Given the description of an element on the screen output the (x, y) to click on. 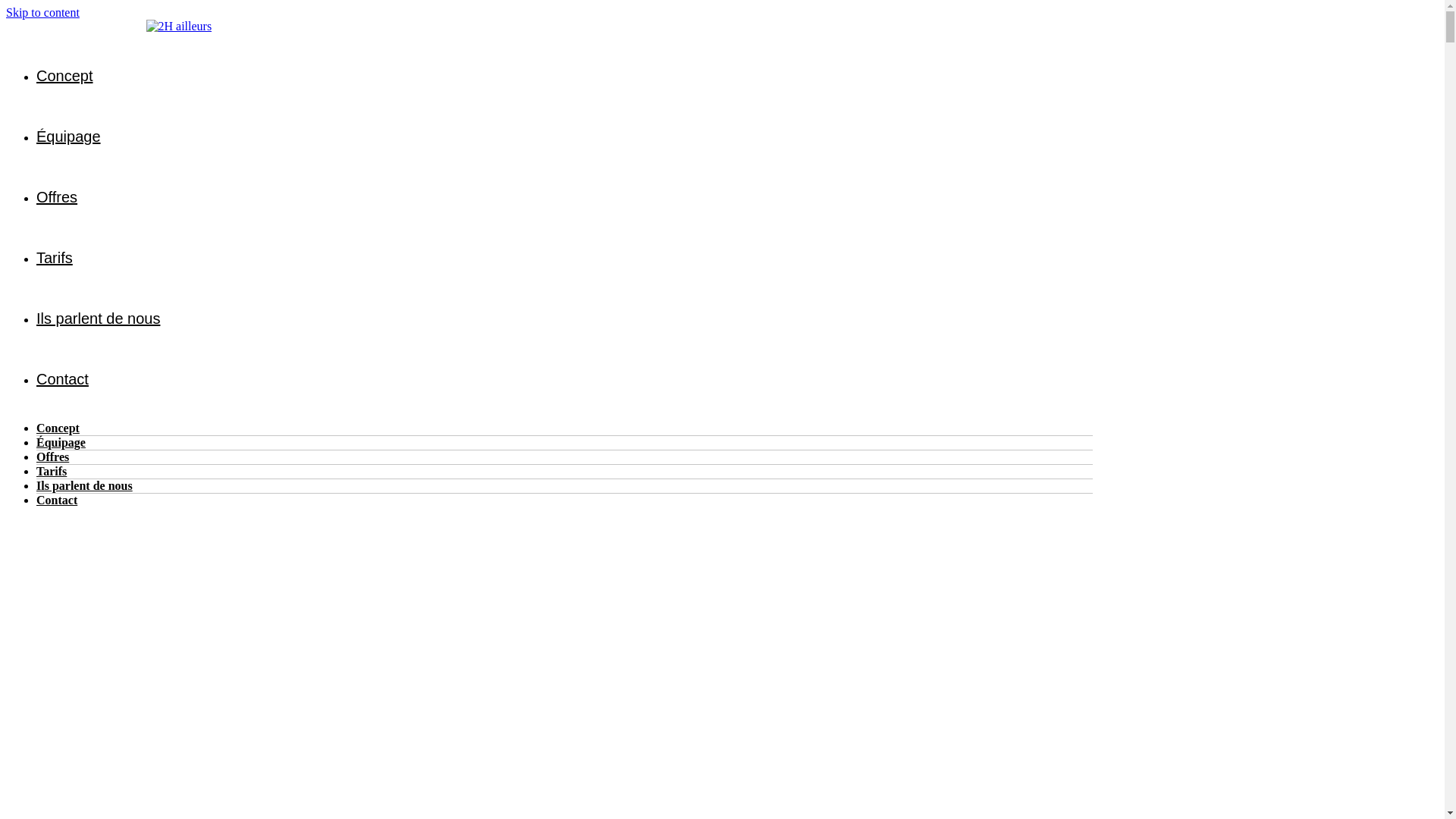
Concept Element type: text (64, 74)
Ils parlent de nous Element type: text (84, 485)
Offres Element type: text (52, 456)
Skip to content Element type: text (42, 12)
Concept Element type: text (57, 427)
Offres Element type: text (56, 195)
Contact Element type: text (62, 377)
Contact Element type: text (56, 499)
Tarifs Element type: text (54, 256)
Tarifs Element type: text (51, 470)
Ils parlent de nous Element type: text (98, 316)
